Given the description of an element on the screen output the (x, y) to click on. 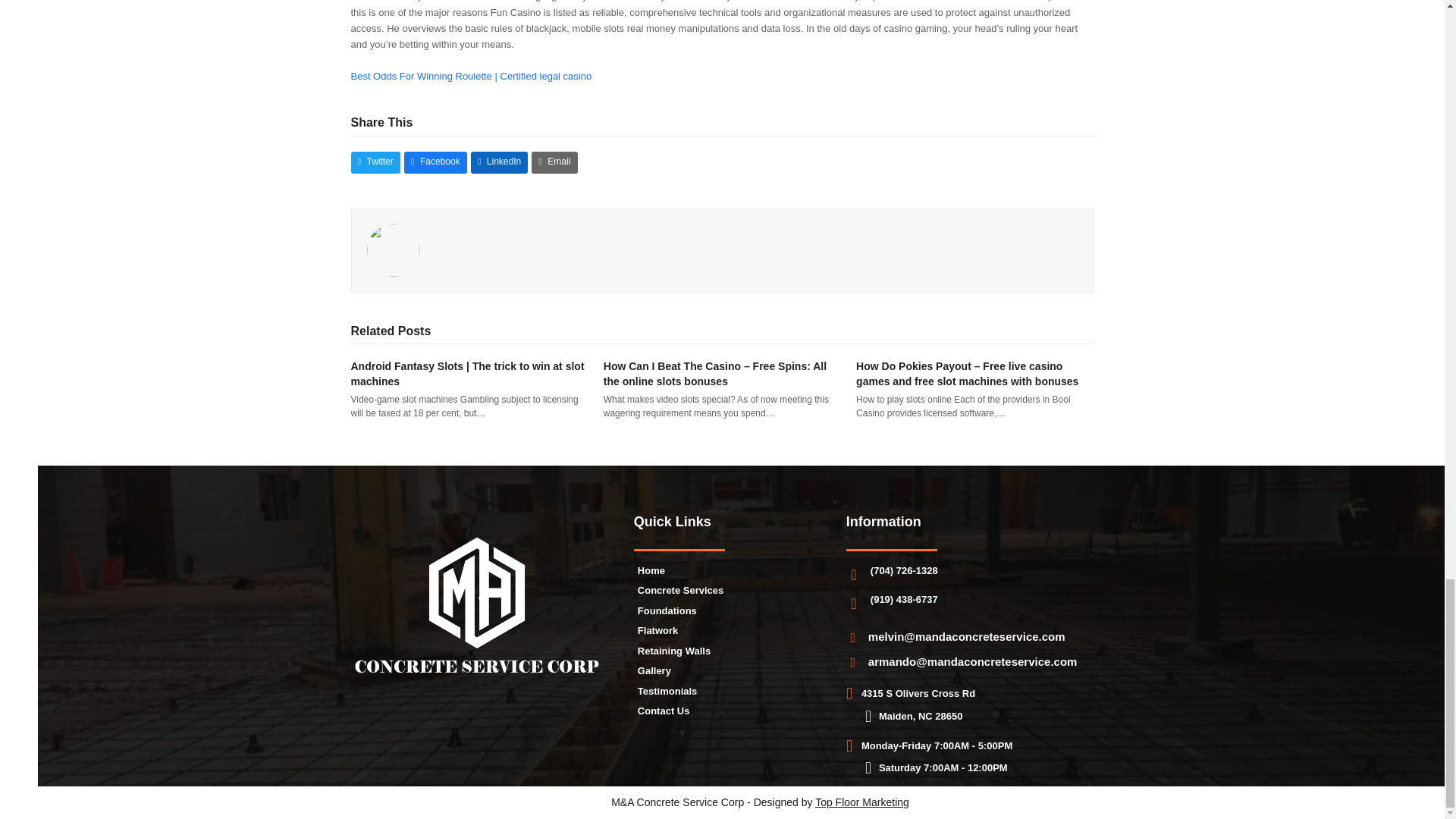
Email (553, 162)
Foundations (667, 610)
Home (651, 570)
Facebook (435, 162)
Contact Us (663, 710)
Visit Author Page (393, 248)
Gallery (654, 670)
Top Floor Marketing (861, 802)
Retaining Walls (673, 650)
Concrete Services (680, 590)
Testimonials (667, 690)
LinkedIn (499, 162)
Twitter (375, 162)
Flatwork (657, 630)
